Given the description of an element on the screen output the (x, y) to click on. 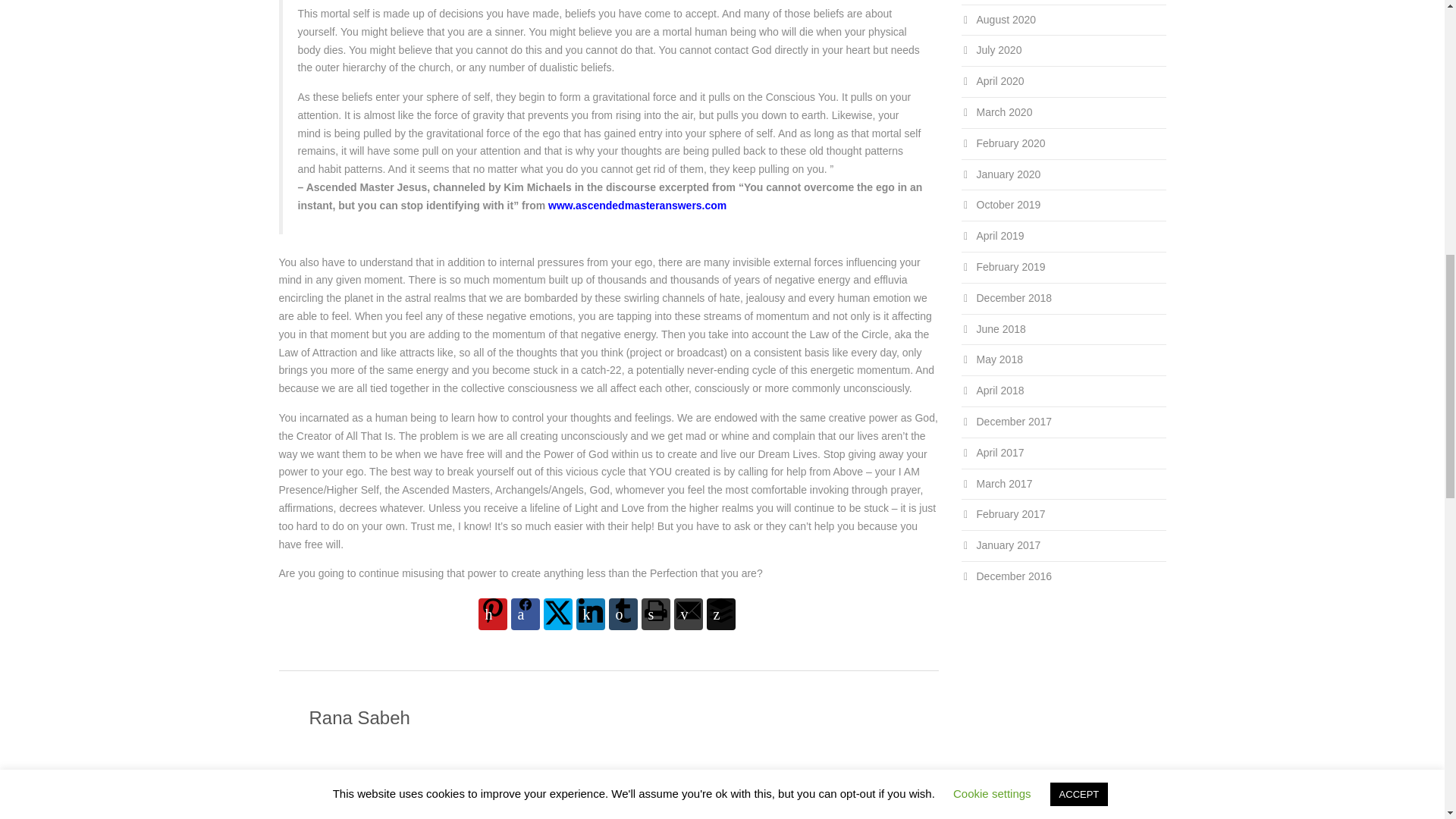
Share on LinkedIn (590, 613)
Share on Pinterest (491, 613)
Share on Print (655, 613)
Share on Twitter (557, 613)
Share on Facebook (525, 613)
Share on Tumblr (622, 613)
